Given the description of an element on the screen output the (x, y) to click on. 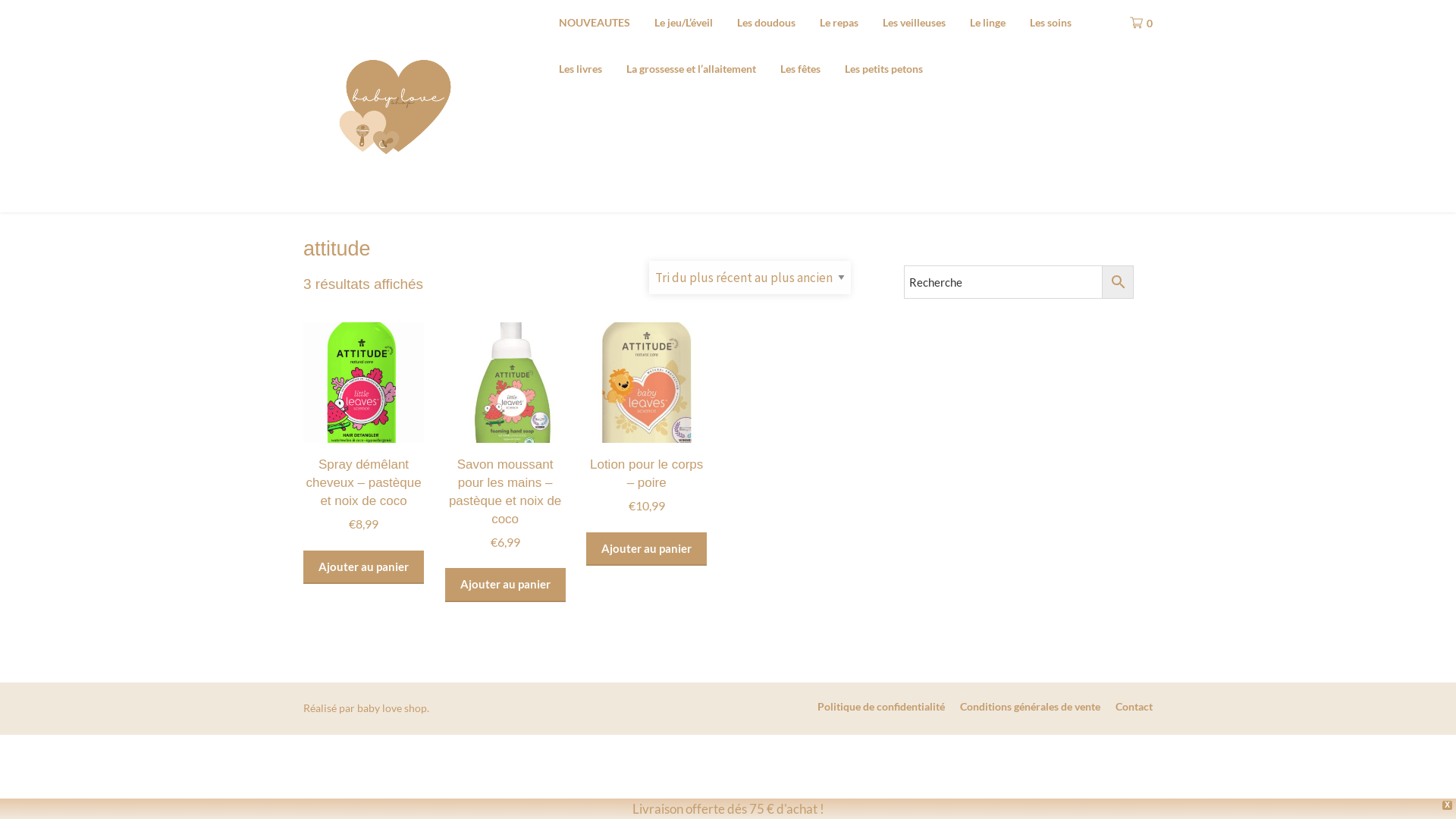
Les petits petons Element type: text (883, 68)
Les doudous Element type: text (765, 22)
Les livres Element type: text (580, 68)
Ajouter au panier Element type: text (505, 584)
0 Element type: text (1133, 22)
Contact Element type: text (1133, 706)
Le linge Element type: text (987, 22)
Les soins Element type: text (1050, 22)
Les veilleuses Element type: text (913, 22)
Baby Love Shop Element type: text (518, 43)
Ajouter au panier Element type: text (363, 567)
Ajouter au panier Element type: text (646, 549)
Le repas Element type: text (838, 22)
NOUVEAUTES Element type: text (594, 22)
